Given the description of an element on the screen output the (x, y) to click on. 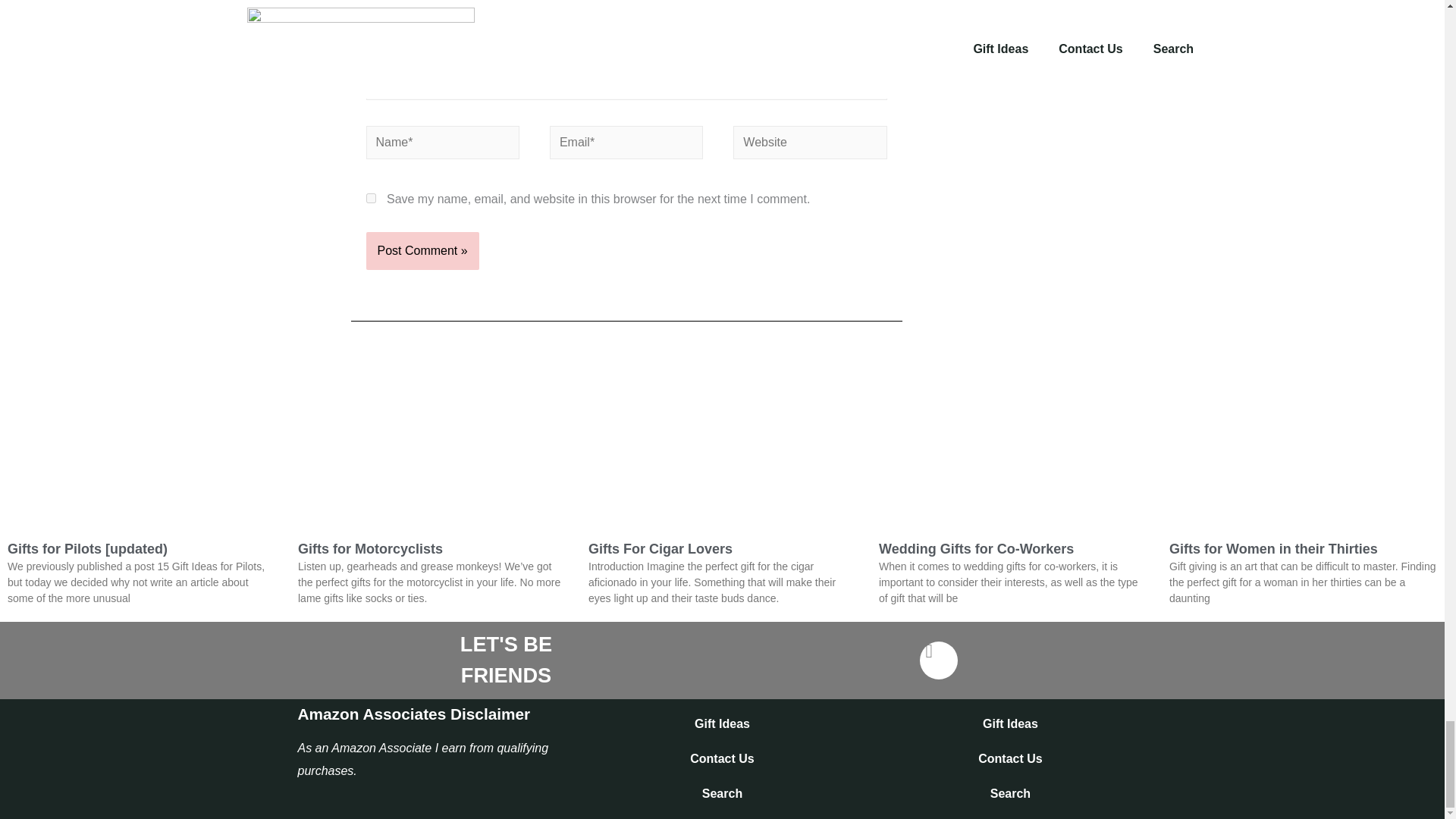
yes (370, 198)
